Given the description of an element on the screen output the (x, y) to click on. 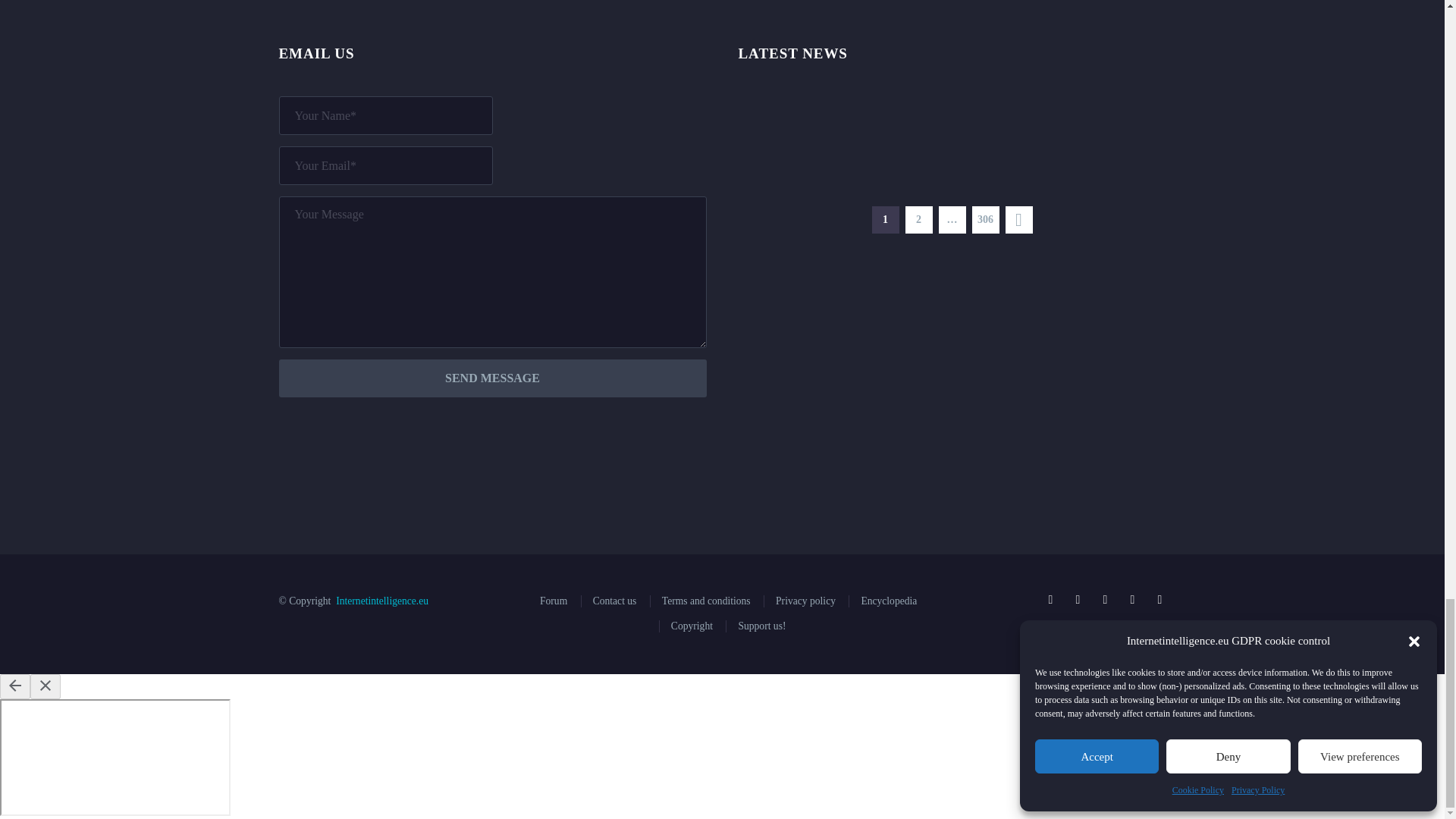
Send Message (492, 378)
